Given the description of an element on the screen output the (x, y) to click on. 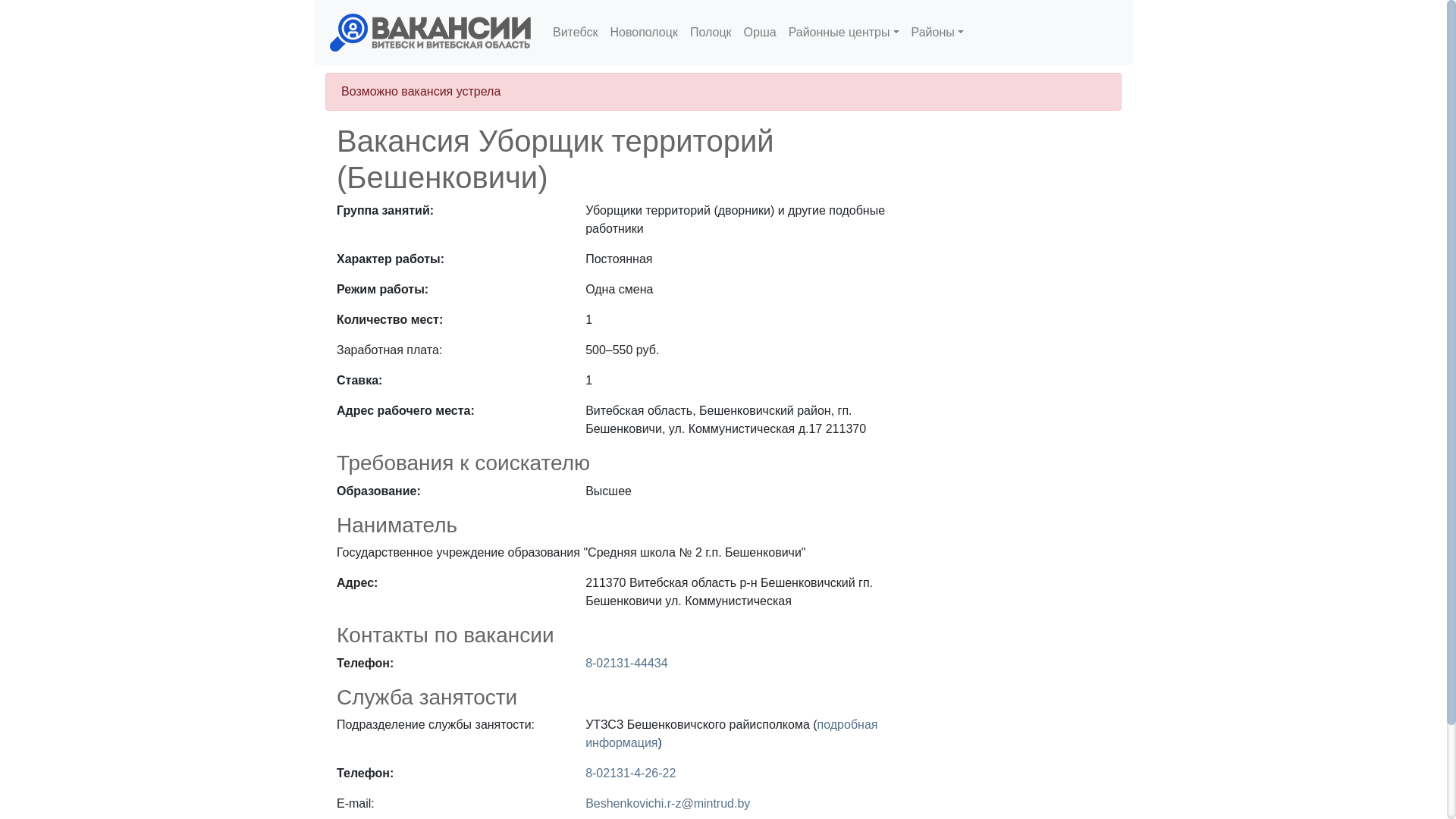
Beshenkovichi.r-z@mintrud.by Element type: text (667, 803)
8-02131-4-26-22 Element type: text (630, 772)
8-02131-44434 Element type: text (626, 662)
